Given the description of an element on the screen output the (x, y) to click on. 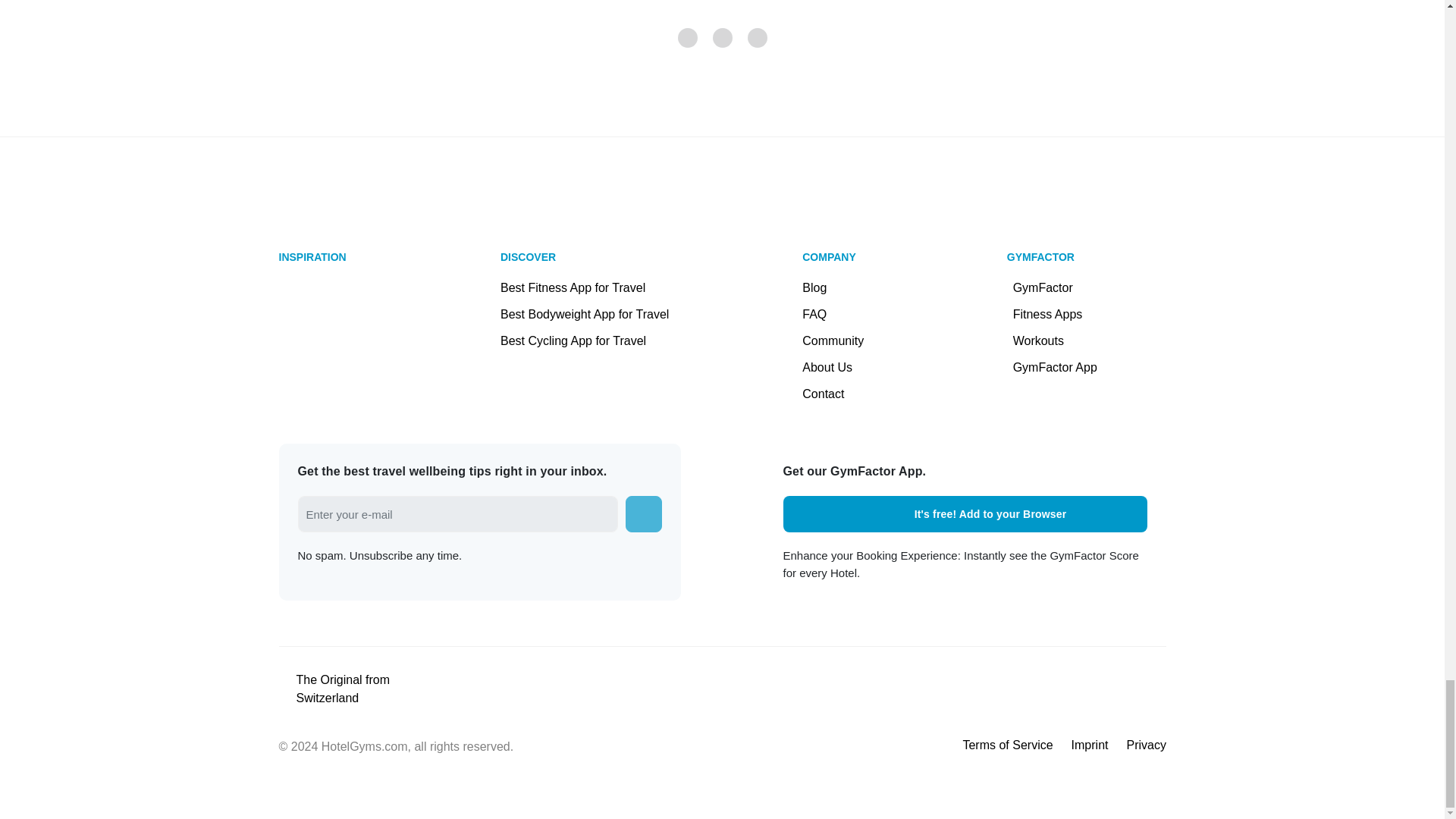
Contact (832, 393)
Workouts (1055, 340)
GymFactor (1055, 287)
Best Bodyweight App for Travel (611, 314)
Terms of Service (1007, 744)
Best Bodyweight App for Travel (611, 314)
Best Fitness App for Travel (611, 287)
Imprint (1089, 744)
About Us (832, 367)
Community (832, 340)
